Given the description of an element on the screen output the (x, y) to click on. 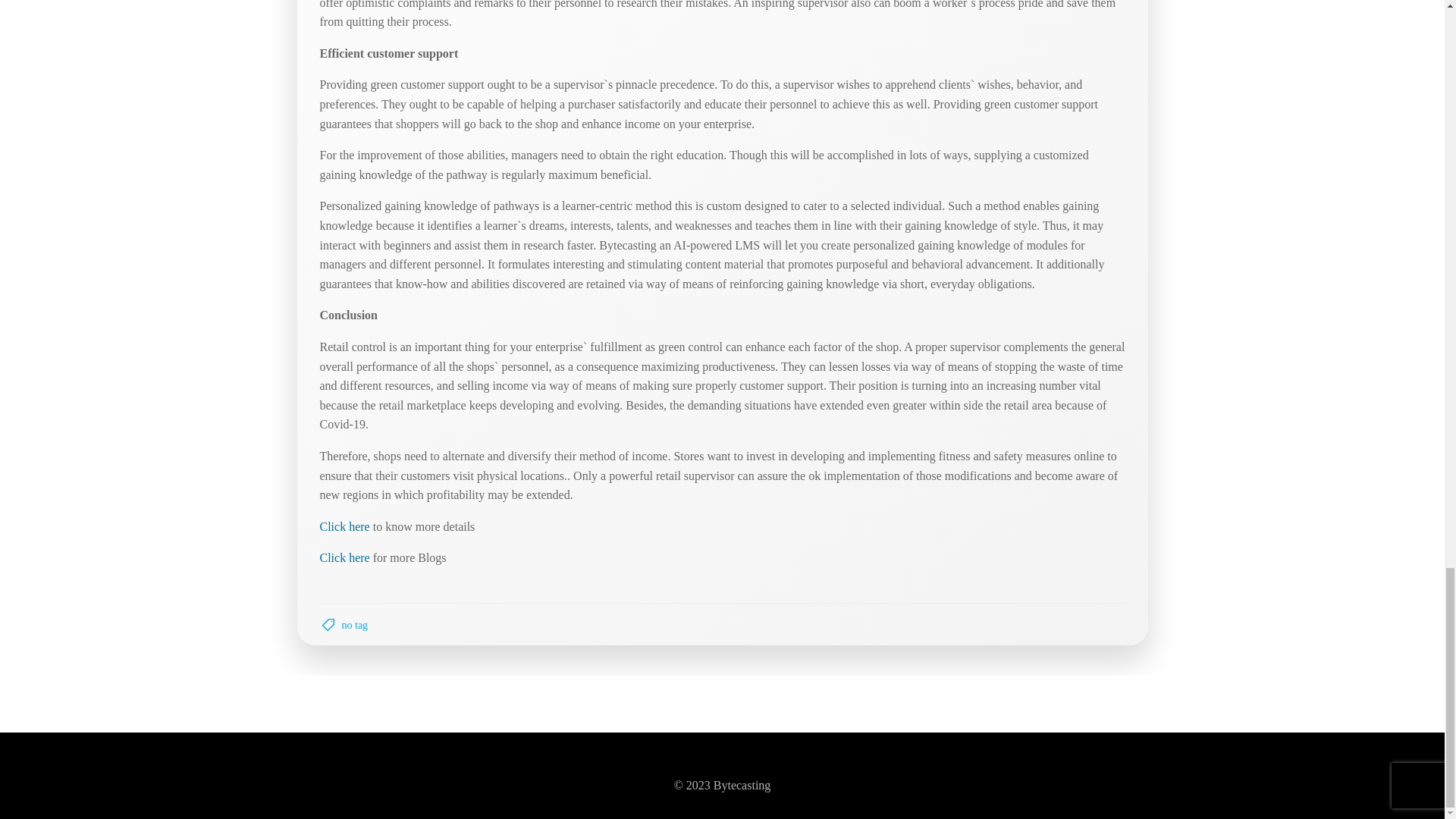
Click here (344, 557)
Click here (344, 526)
